Given the description of an element on the screen output the (x, y) to click on. 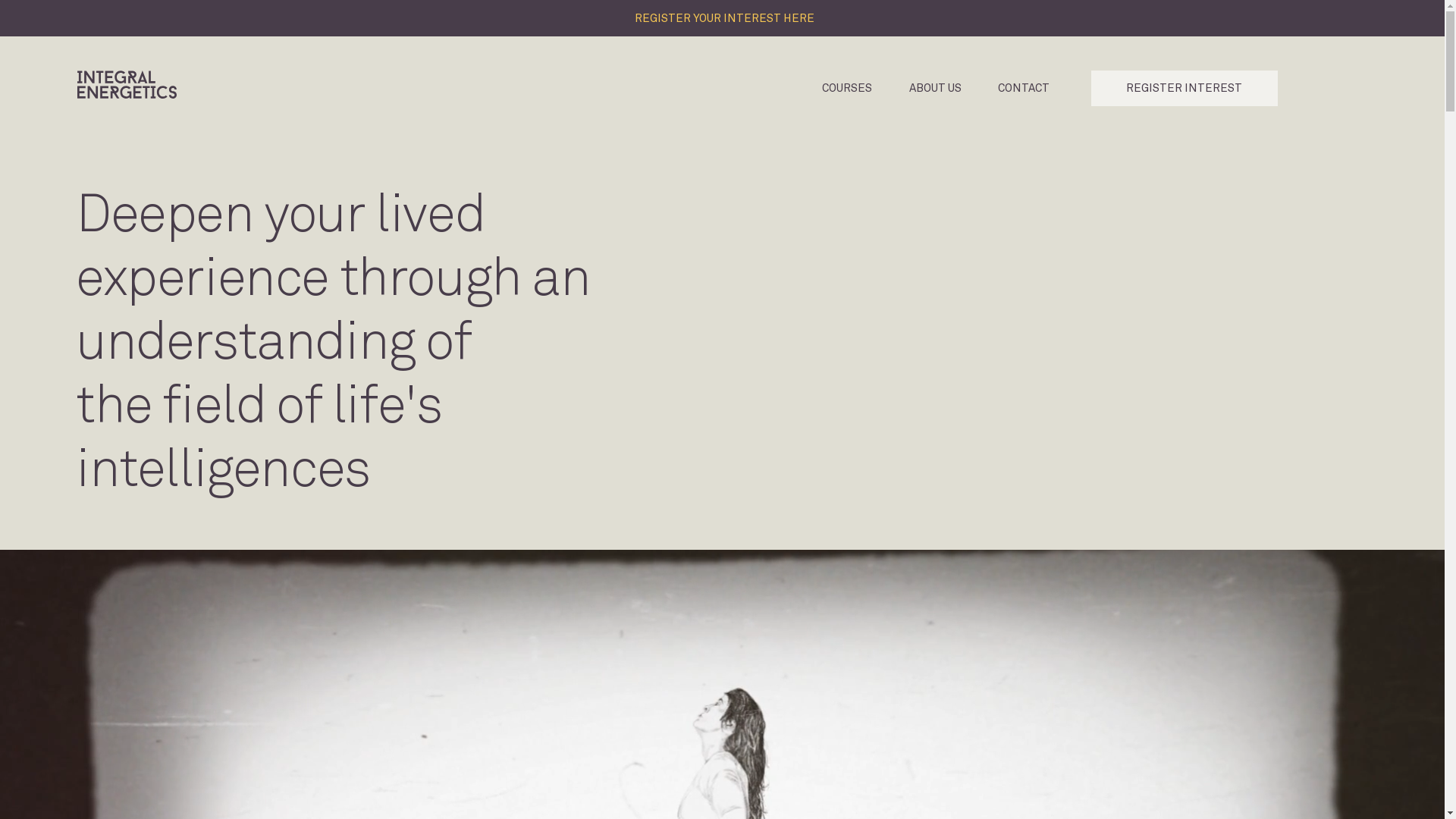
COURSES Element type: text (847, 88)
REGISTER INTEREST Element type: text (1184, 87)
CONTACT Element type: text (1023, 88)
ABOUT US Element type: text (935, 88)
  REGISTER YOUR INTEREST HERE Element type: text (722, 18)
